Given the description of an element on the screen output the (x, y) to click on. 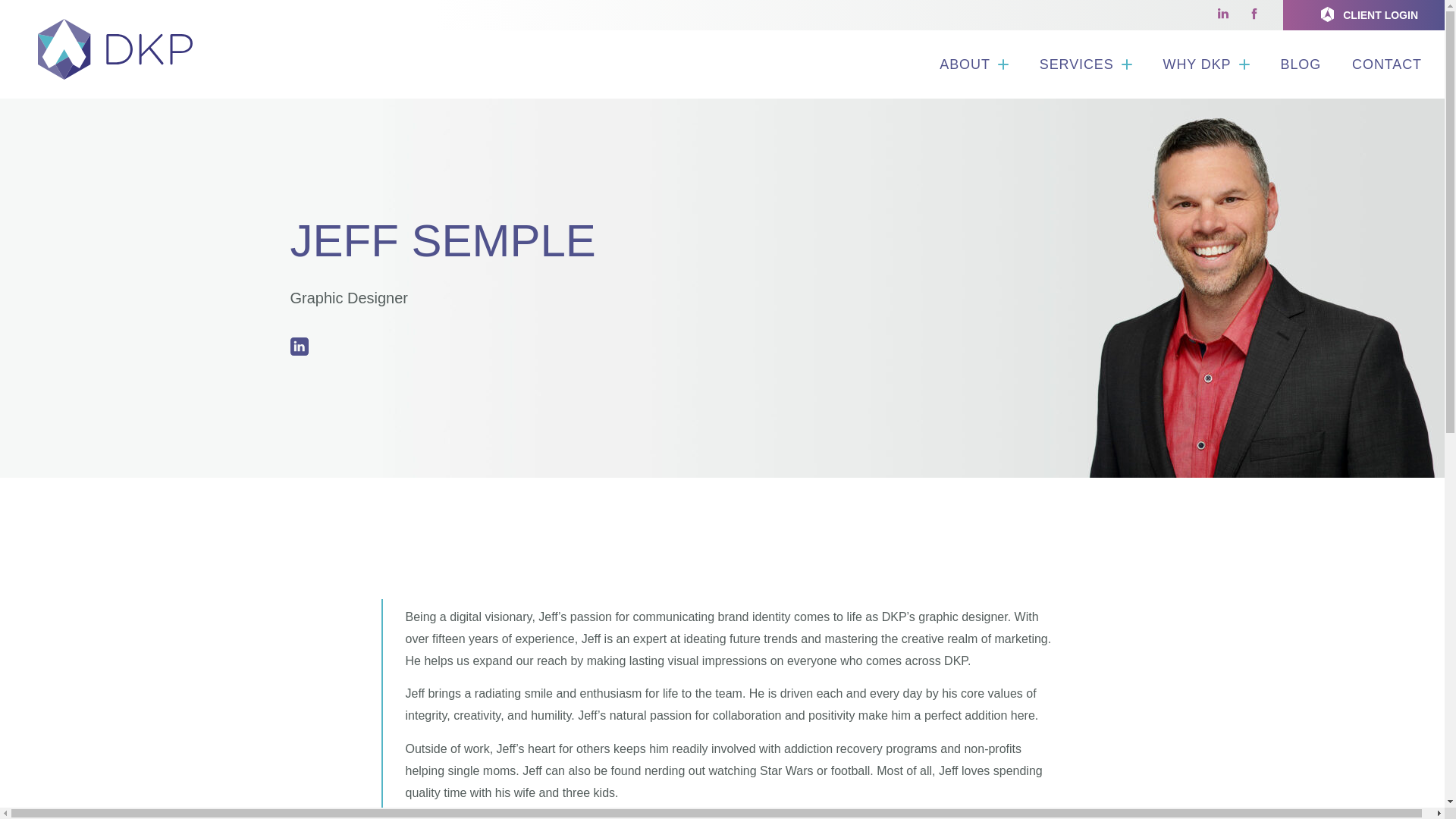
DK Pierce (114, 48)
ABOUT (973, 64)
CONTACT (1386, 64)
BLOG (1300, 64)
WHY DKP (1206, 64)
SERVICES (1086, 64)
